Given the description of an element on the screen output the (x, y) to click on. 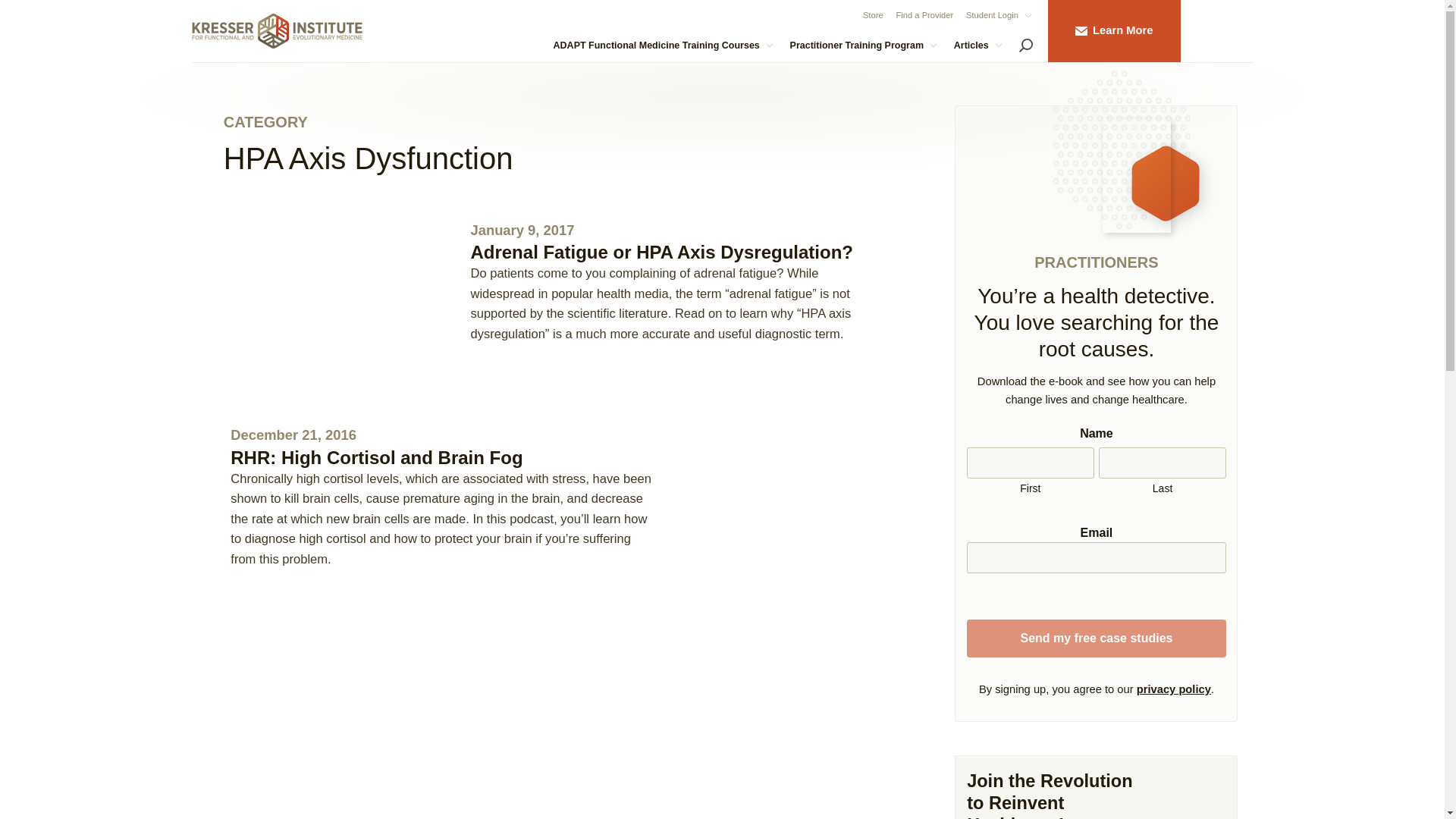
Learn More (1114, 31)
Send my free case studies (1095, 637)
ADAPT Functional Medicine Training Courses (664, 45)
Articles (978, 45)
search (1025, 43)
Student Login (1000, 15)
search (1026, 46)
Send my free case studies (1095, 637)
Practitioner Training Program (864, 45)
Kresser Institute (275, 30)
Find a Provider (924, 15)
Store (873, 15)
Kresser Institute (275, 30)
Learn More (1114, 31)
